Given the description of an element on the screen output the (x, y) to click on. 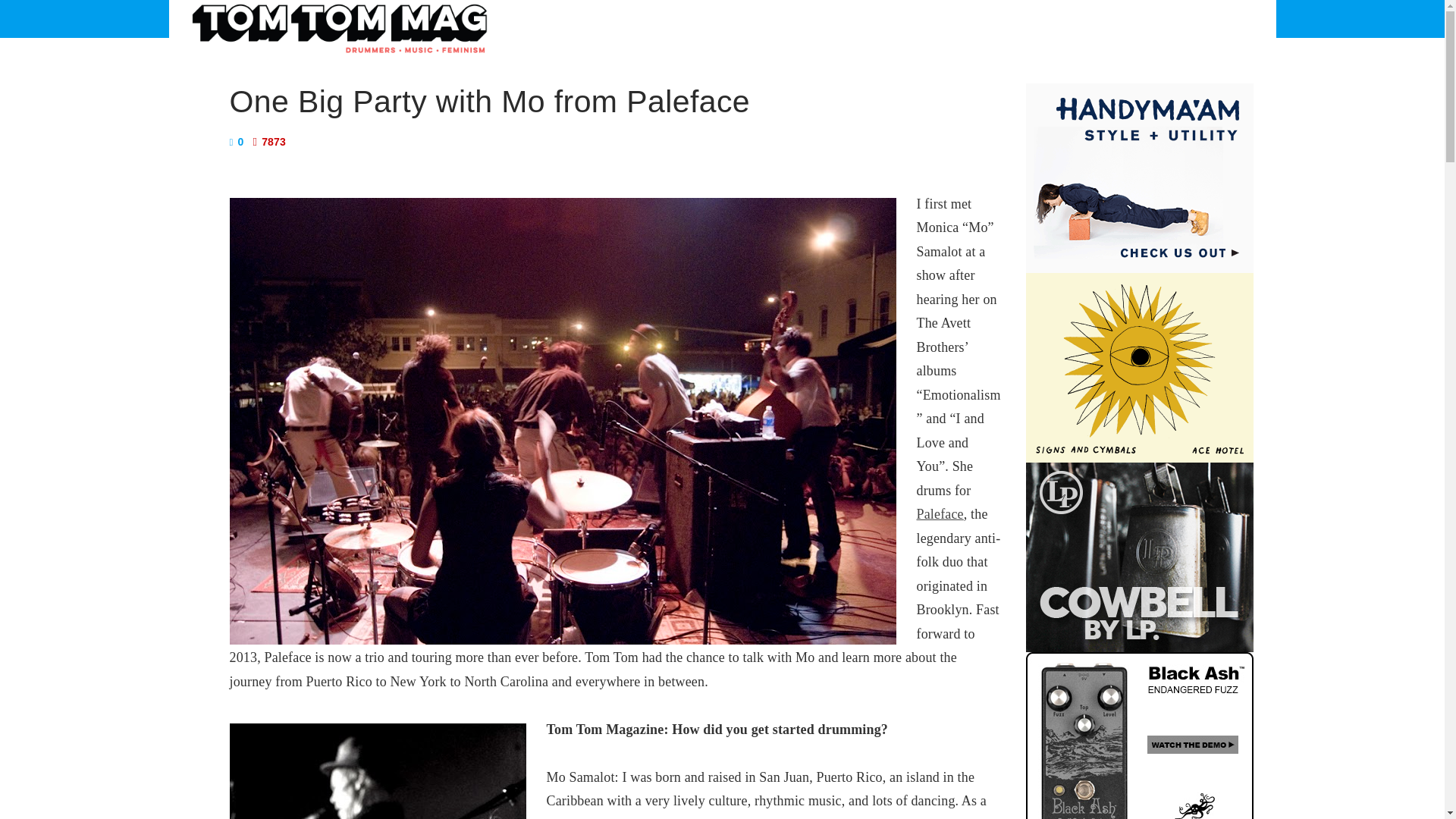
Views (268, 141)
RESOURCES (810, 18)
THE MAG (630, 18)
FEATURES (715, 18)
ABOUT (560, 18)
PODCAST (931, 18)
SHOP (991, 18)
TV (878, 18)
